Given the description of an element on the screen output the (x, y) to click on. 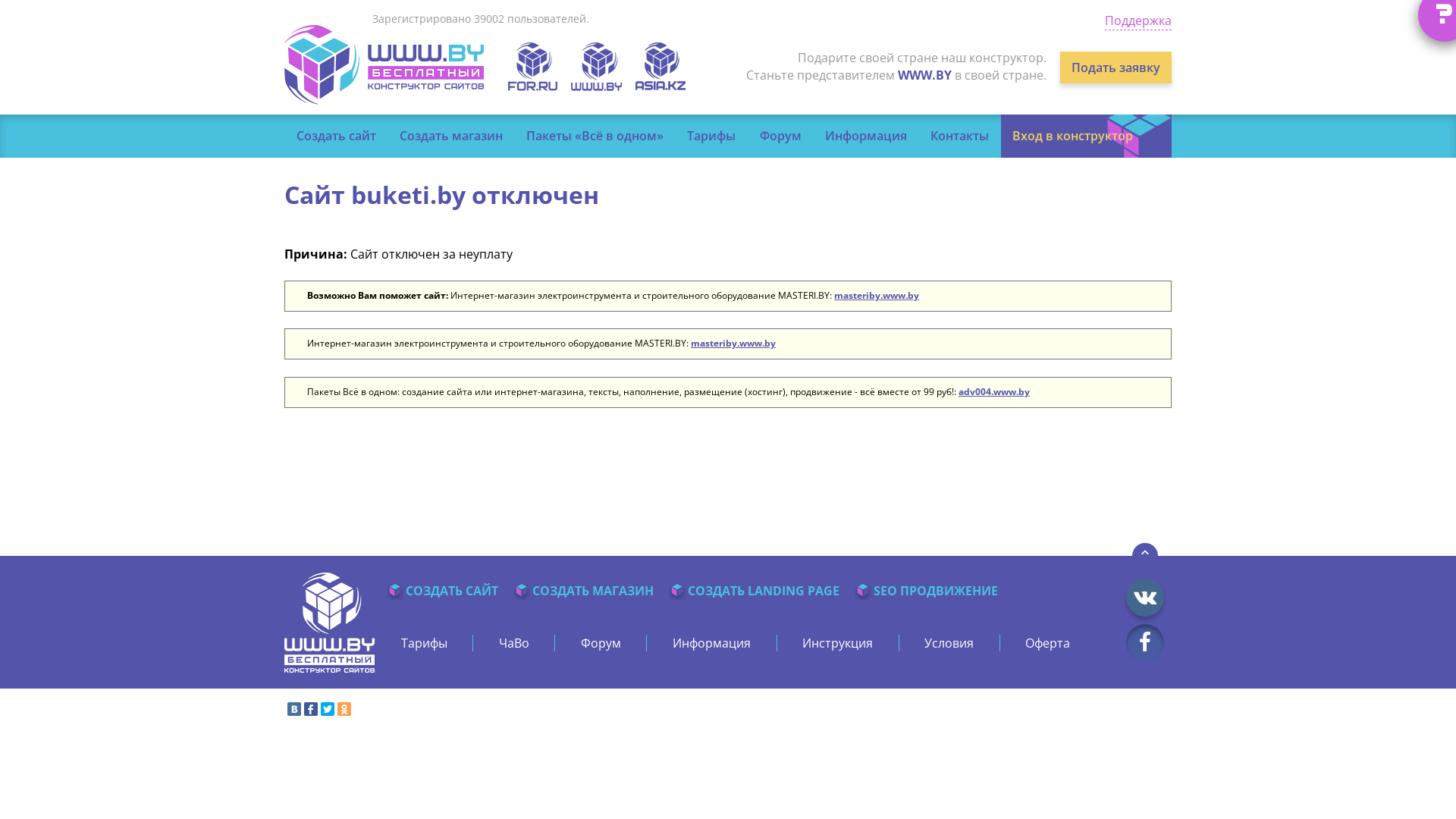
Facebook Element type: hover (310, 708)
LiveInternet Element type: hover (1159, 711)
Twitter Element type: hover (327, 708)
adv004.www.by Element type: text (993, 391)
masteriby.www.by Element type: text (732, 342)
masteriby.www.by Element type: text (876, 294)
